Given the description of an element on the screen output the (x, y) to click on. 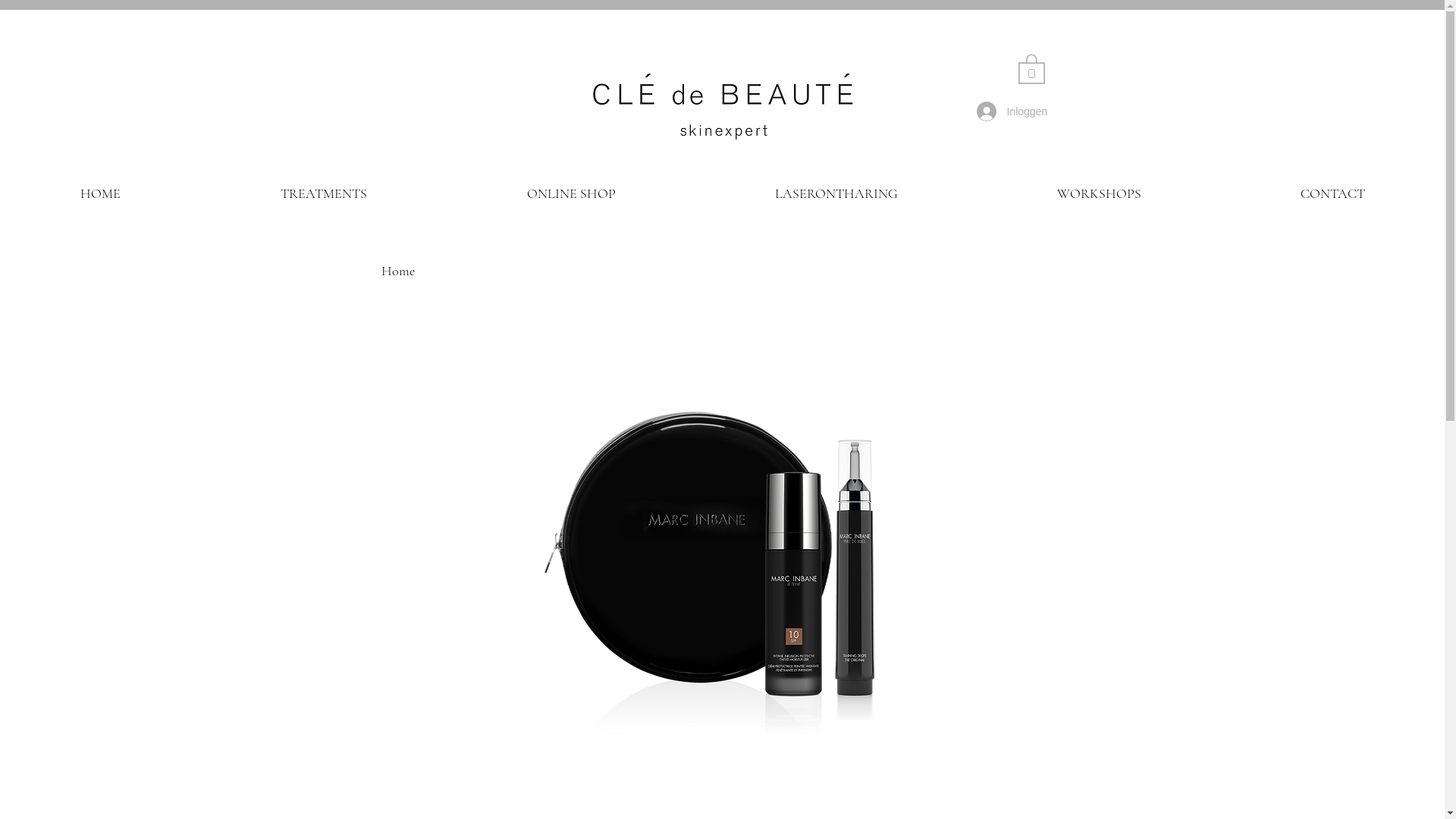
0 Element type: text (1030, 68)
TREATMENTS Element type: text (323, 193)
ONLINE SHOP Element type: text (570, 193)
HOME Element type: text (100, 193)
CONTACT Element type: text (1332, 193)
Home Element type: text (397, 270)
LASERONTHARING Element type: text (836, 193)
Inloggen Element type: text (1011, 111)
WORKSHOPS Element type: text (1098, 193)
